Given the description of an element on the screen output the (x, y) to click on. 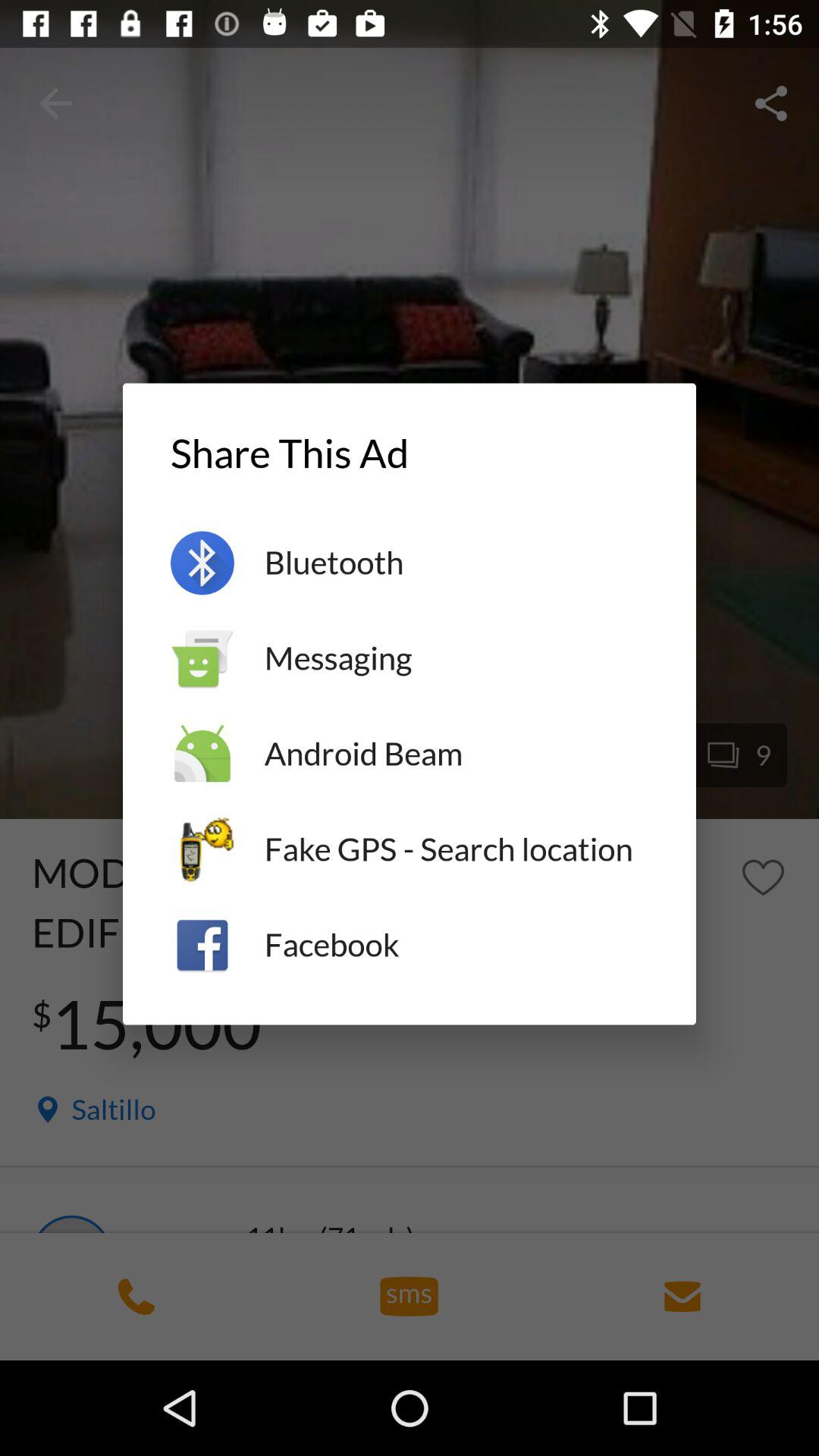
turn off the icon below android beam item (456, 849)
